Given the description of an element on the screen output the (x, y) to click on. 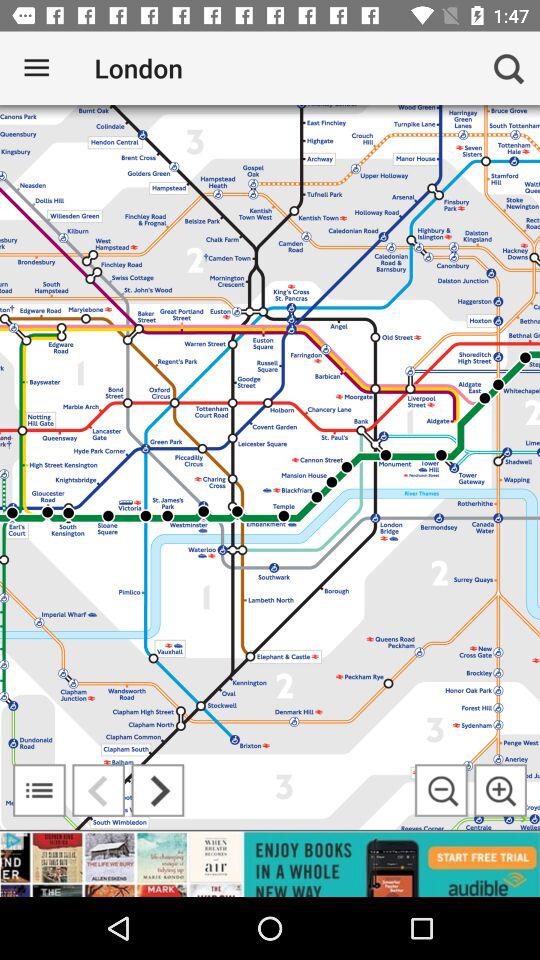
its cool touse it in woods (441, 790)
